Given the description of an element on the screen output the (x, y) to click on. 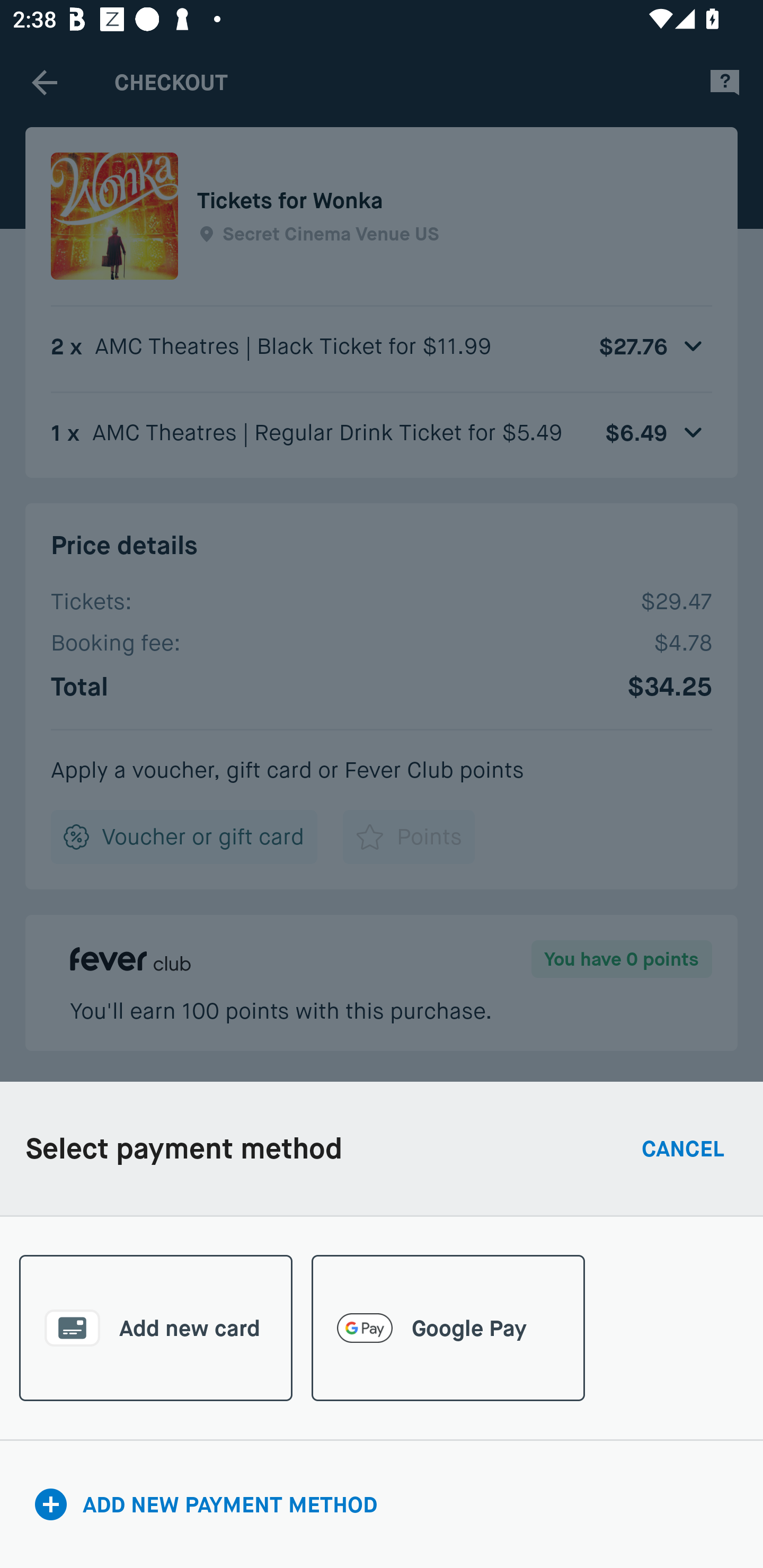
CANCEL (682, 1148)
Add new card (155, 1327)
Payment method icon Google Pay (448, 1327)
ADD NEW PAYMENT METHOD (381, 1503)
